Given the description of an element on the screen output the (x, y) to click on. 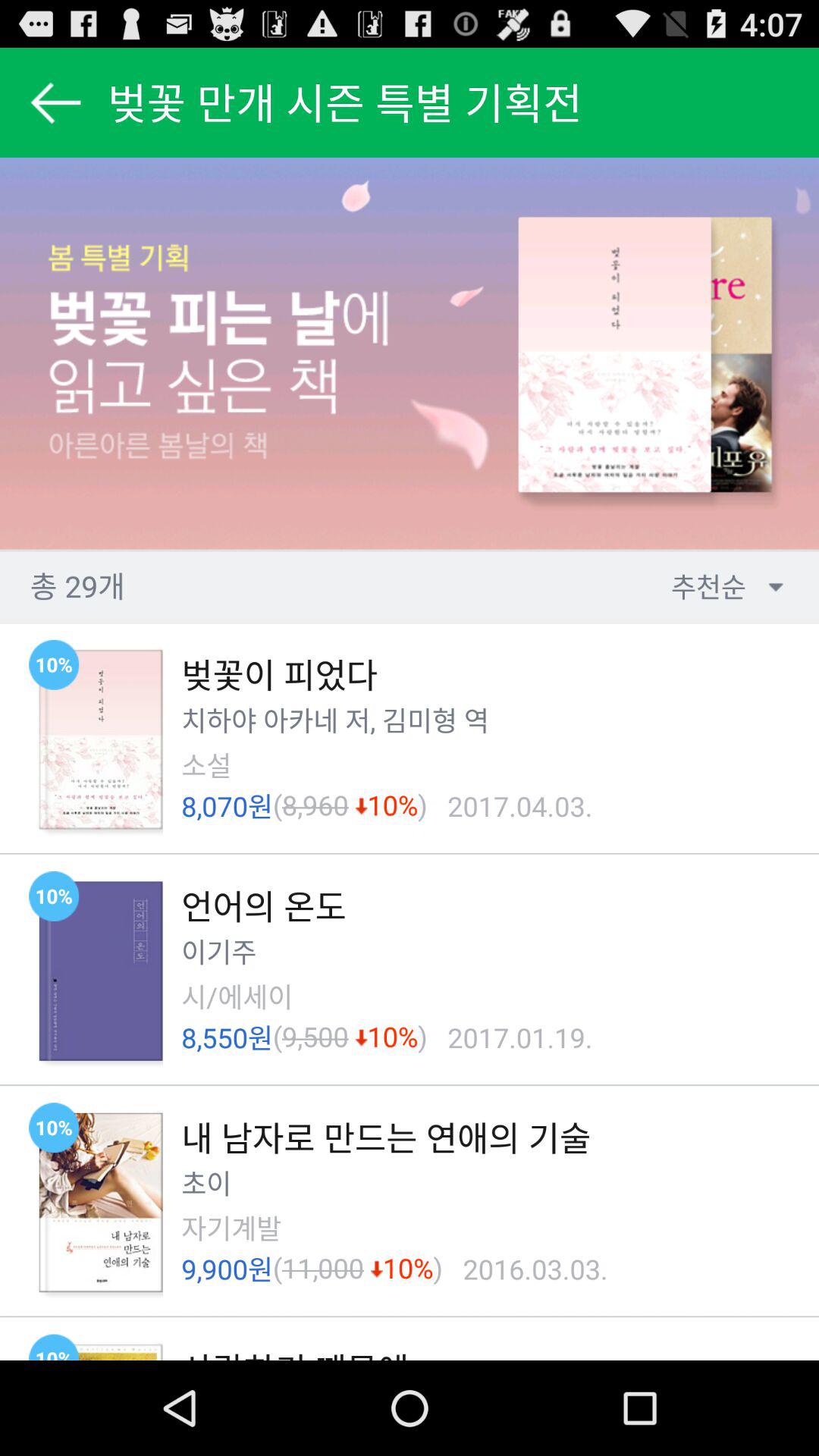
turn off the icon next to the 9,500 (277, 1037)
